Given the description of an element on the screen output the (x, y) to click on. 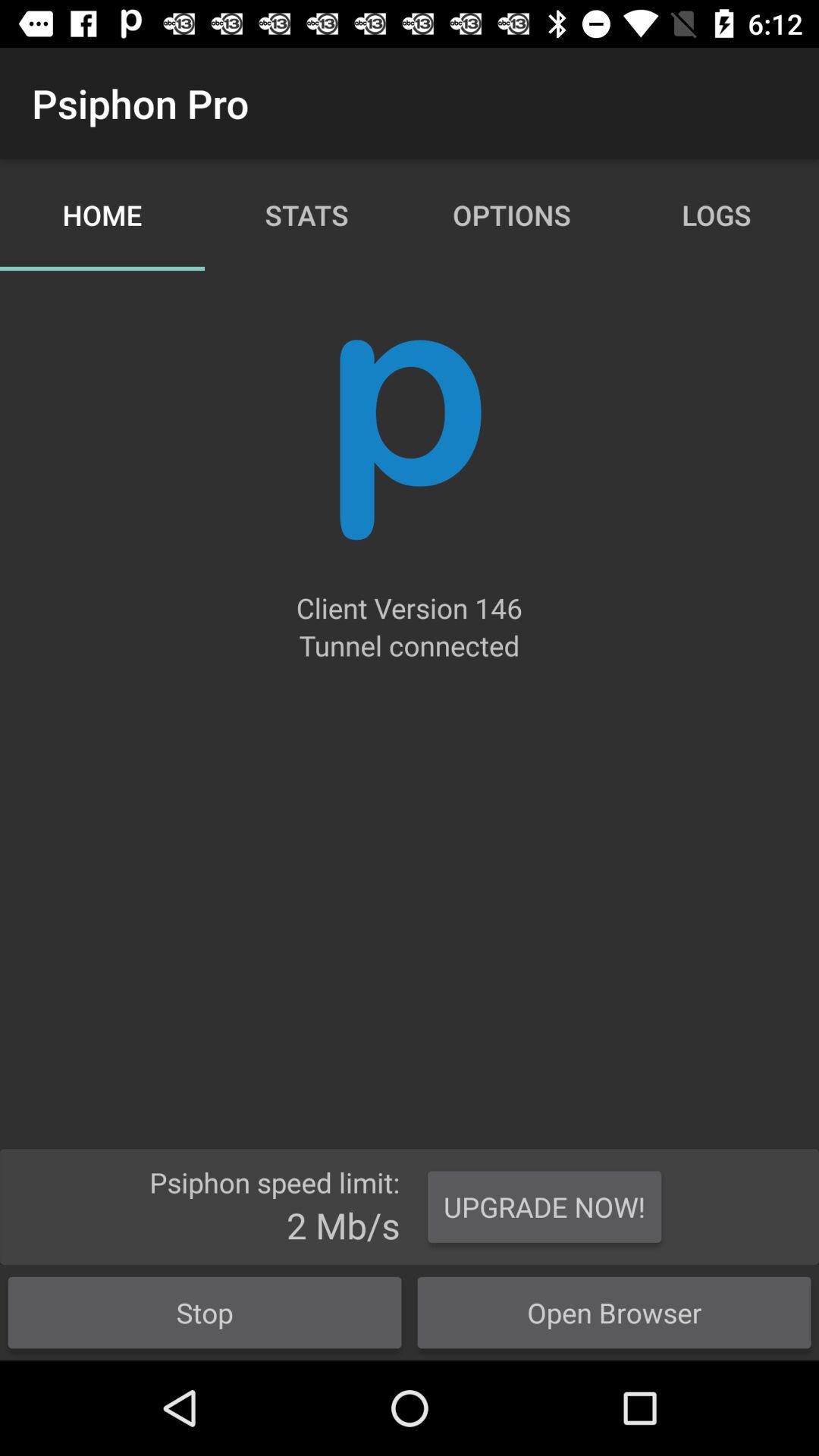
scroll to open browser button (614, 1312)
